Given the description of an element on the screen output the (x, y) to click on. 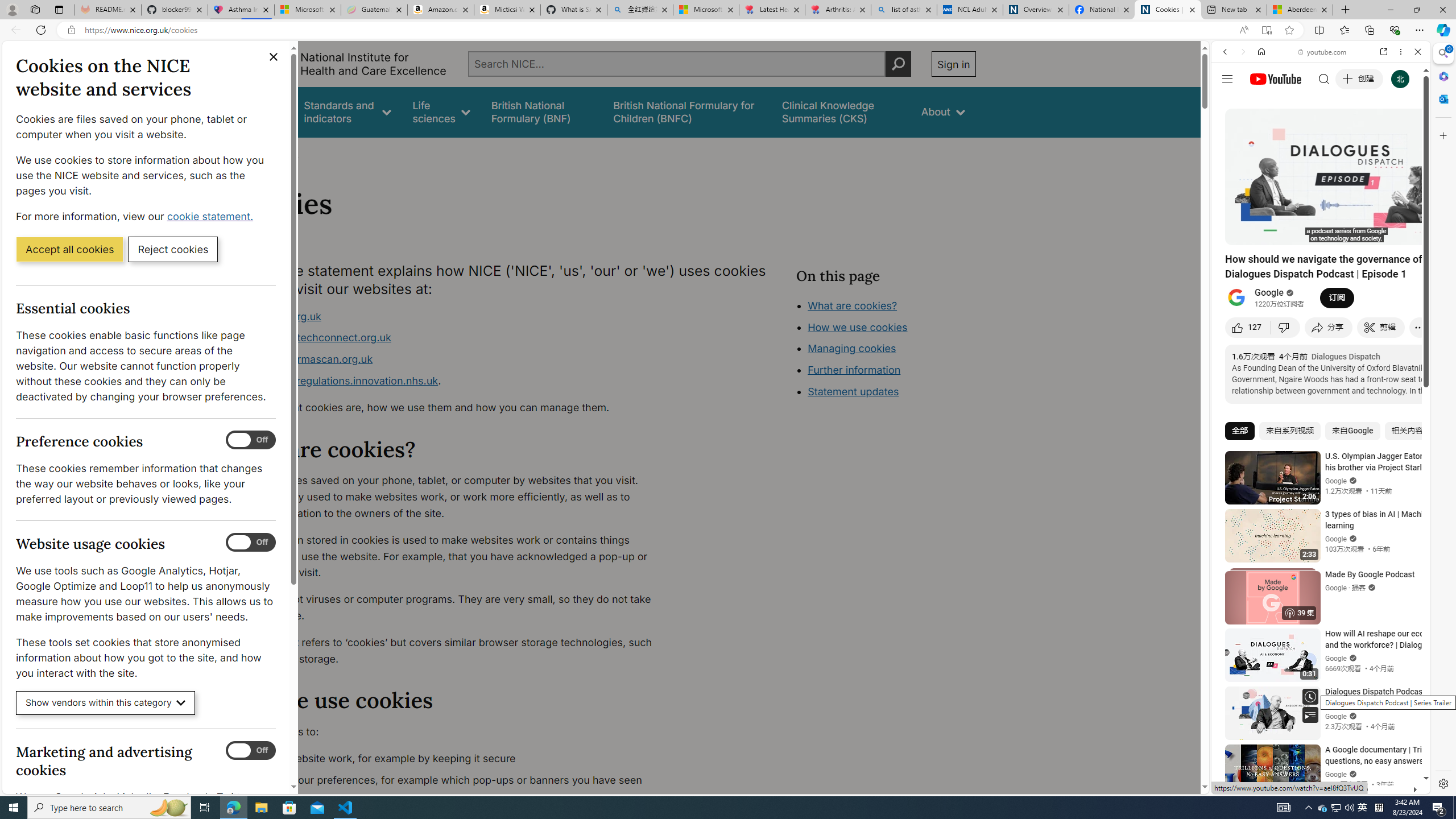
Preference cookies (250, 439)
YouTube (1315, 655)
Guidance (260, 111)
make our website work, for example by keeping it secure (452, 759)
www.ukpharmascan.org.uk (452, 359)
